Given the description of an element on the screen output the (x, y) to click on. 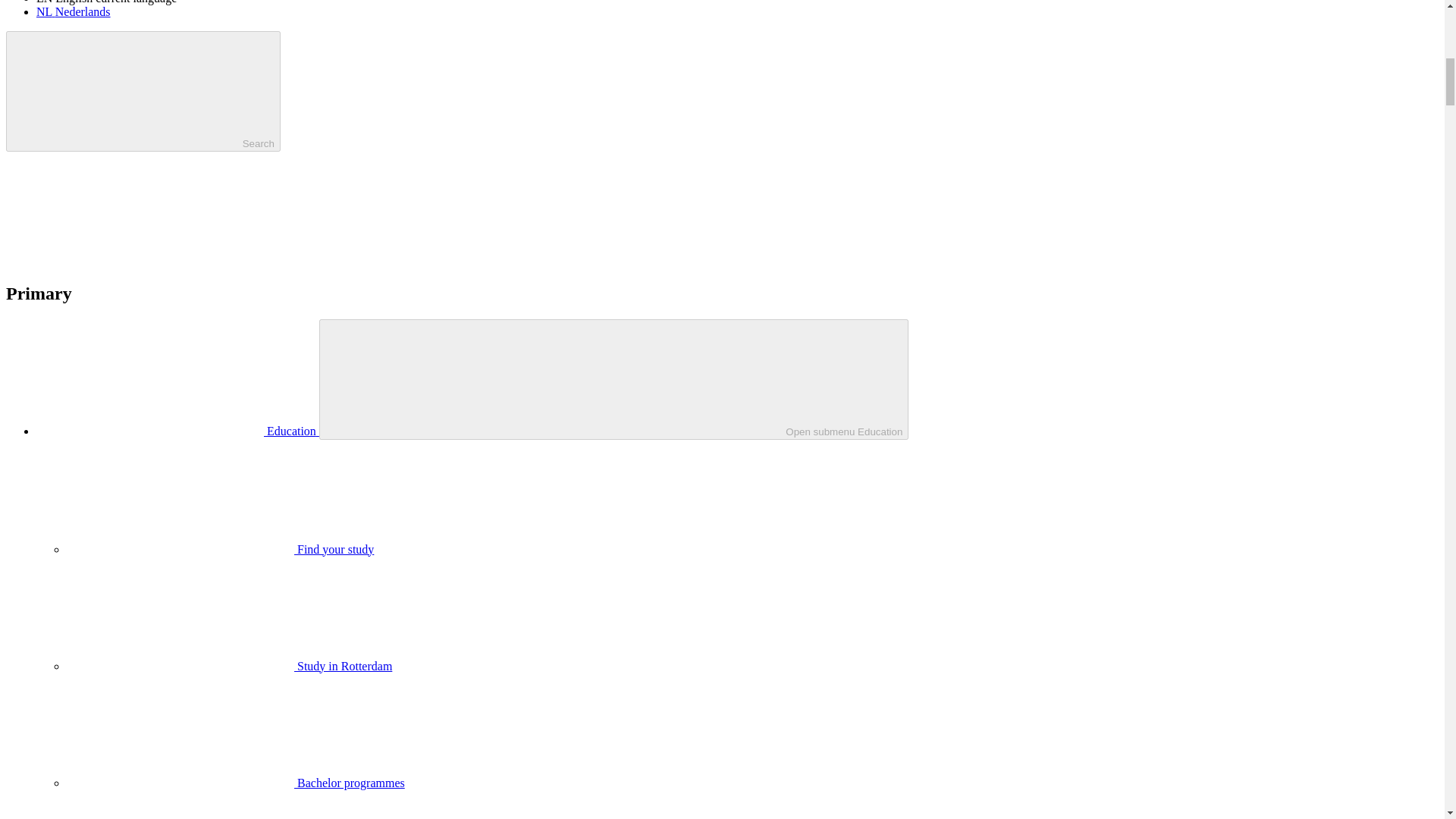
Open submenu Education (613, 379)
NL Nederlands (73, 11)
Search (143, 91)
Study in Rotterdam (228, 666)
Education (177, 431)
Find your study (220, 549)
Bachelor programmes (235, 782)
